Given the description of an element on the screen output the (x, y) to click on. 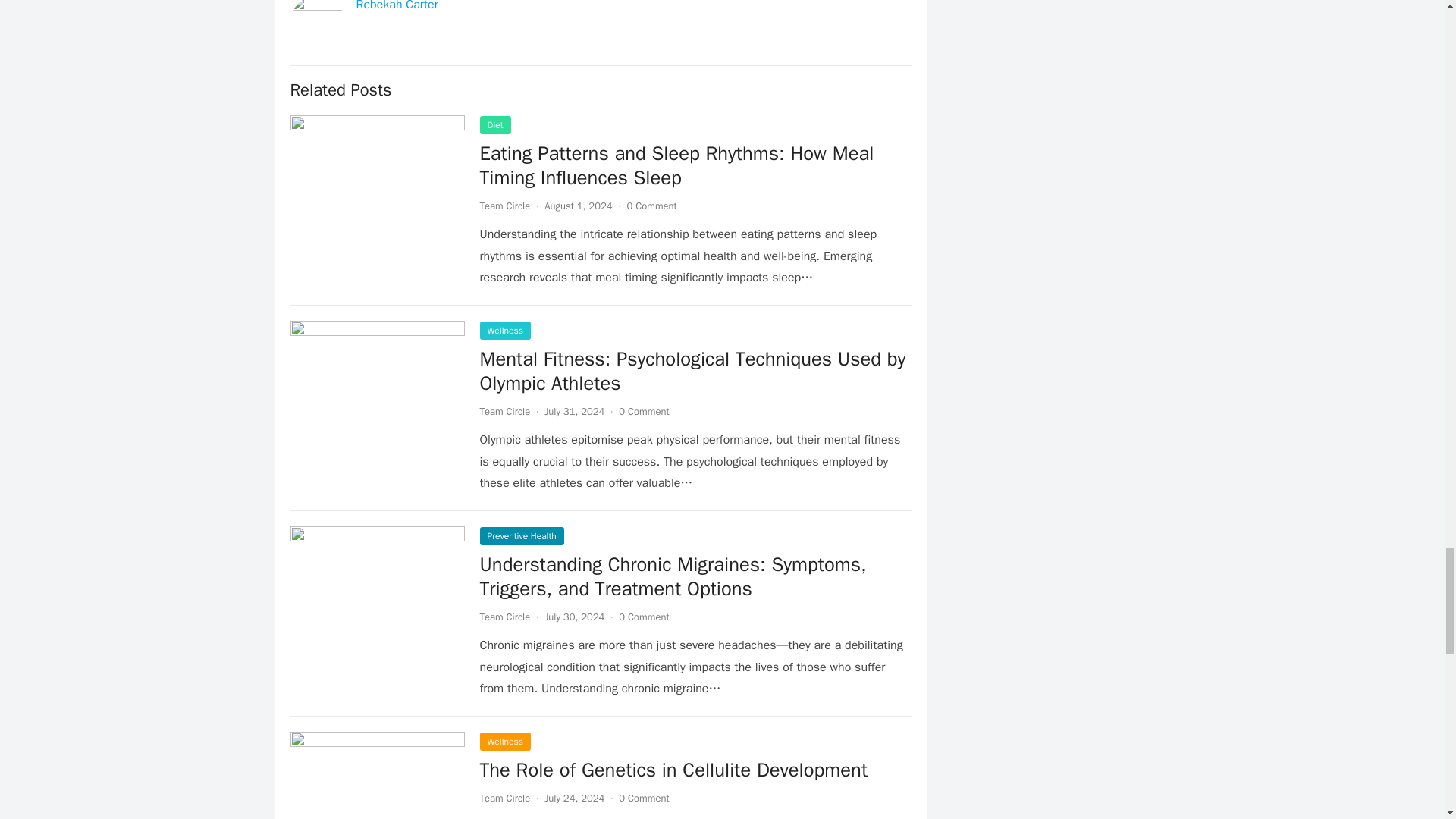
Posts by Team Circle (504, 797)
Posts by Team Circle (504, 410)
Posts by Team Circle (504, 616)
Posts by Team Circle (504, 205)
